Given the description of an element on the screen output the (x, y) to click on. 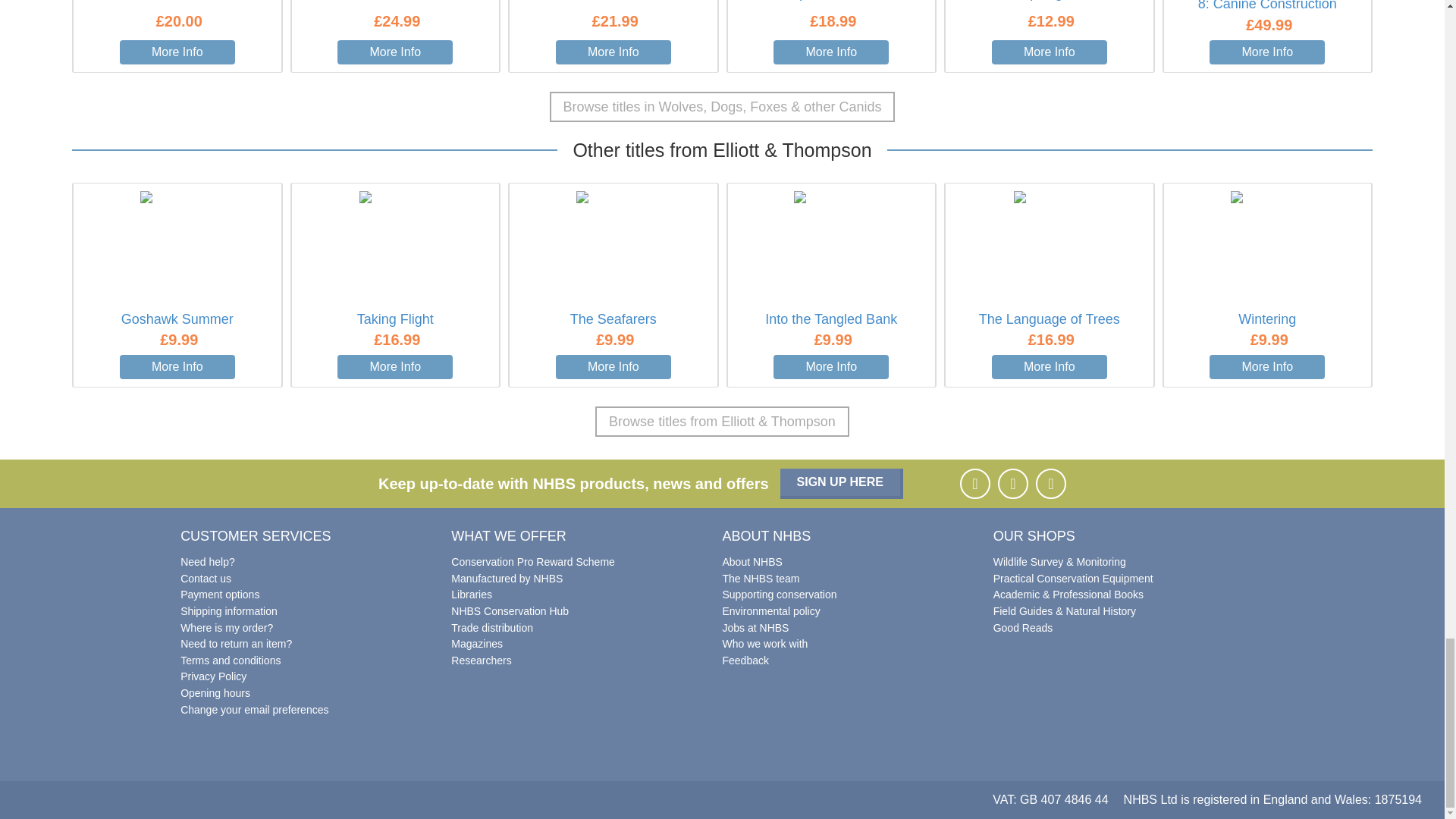
Sign up here (841, 483)
Follow us on Twitter (1050, 483)
Follow us on Instagram (1012, 483)
Follow us on Facebook (974, 483)
